Given the description of an element on the screen output the (x, y) to click on. 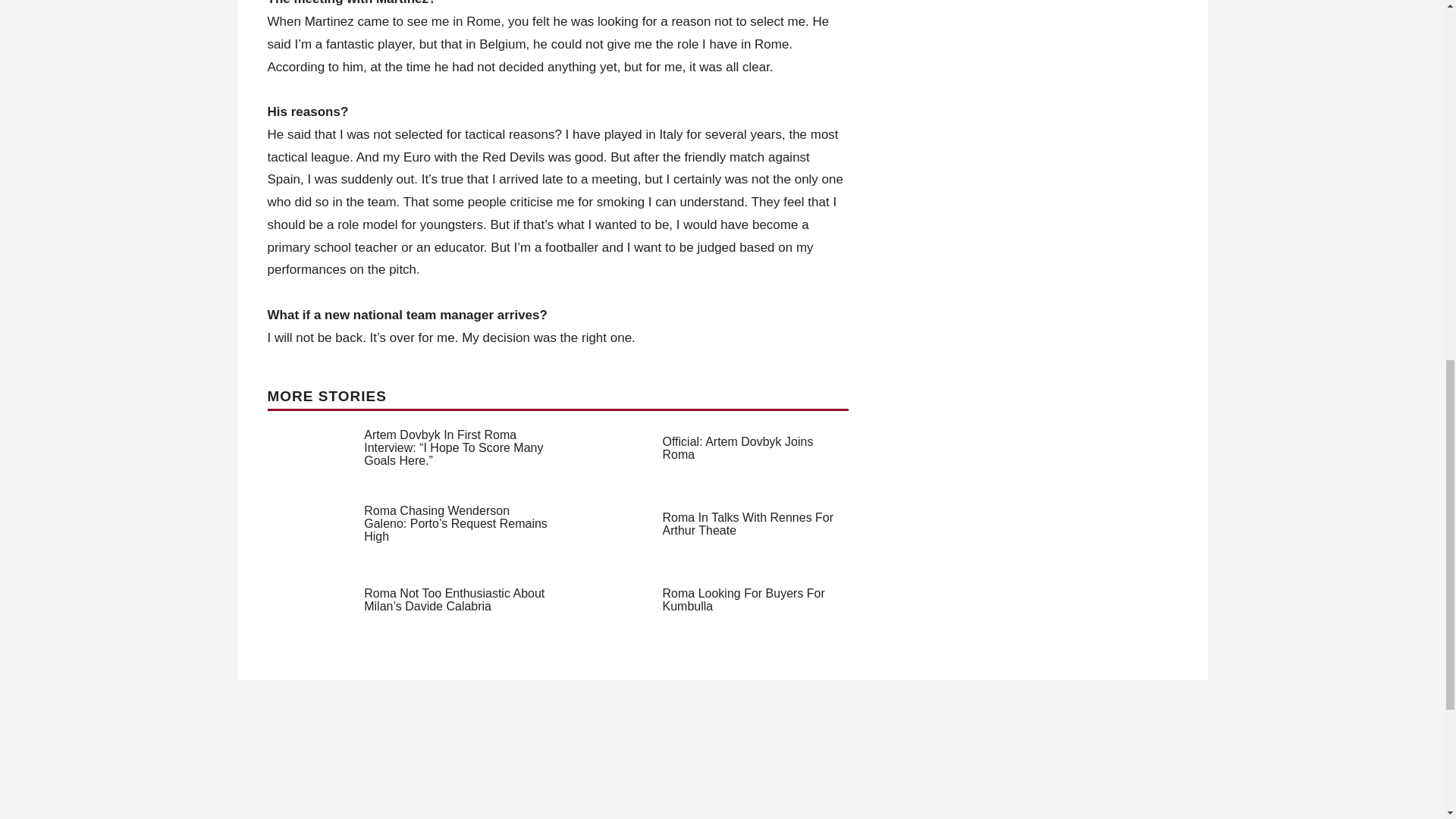
Roma Looking For Buyers For Kumbulla (743, 599)
Roma In Talks With Rennes For Arthur Theate (748, 524)
Official: Artem Dovbyk Joins Roma (737, 447)
